Given the description of an element on the screen output the (x, y) to click on. 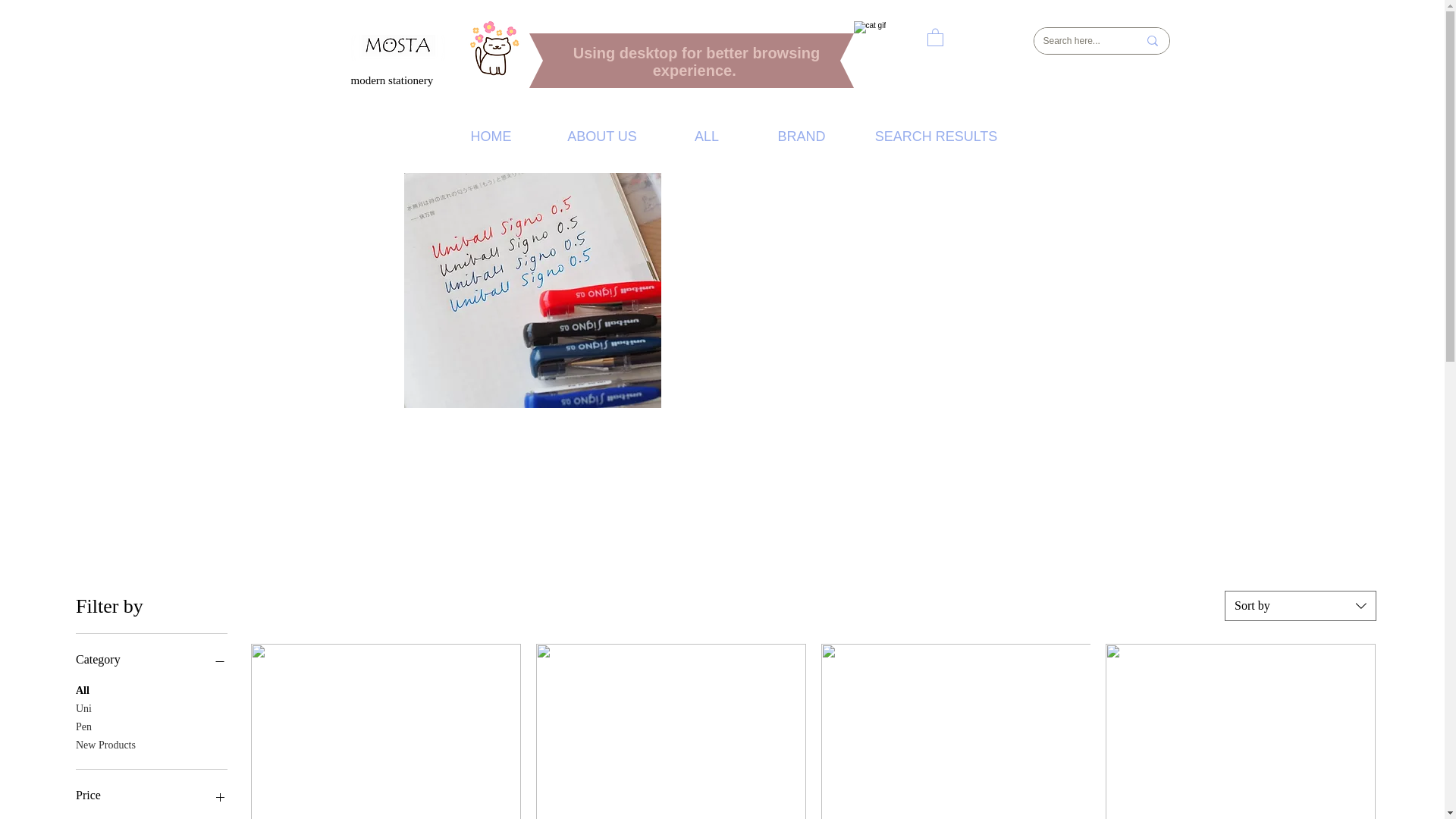
Price (151, 794)
ABOUT US (601, 134)
Sort by (1299, 605)
HOME (490, 134)
ALL (706, 134)
SEARCH RESULTS (936, 134)
BRAND (801, 134)
